Given the description of an element on the screen output the (x, y) to click on. 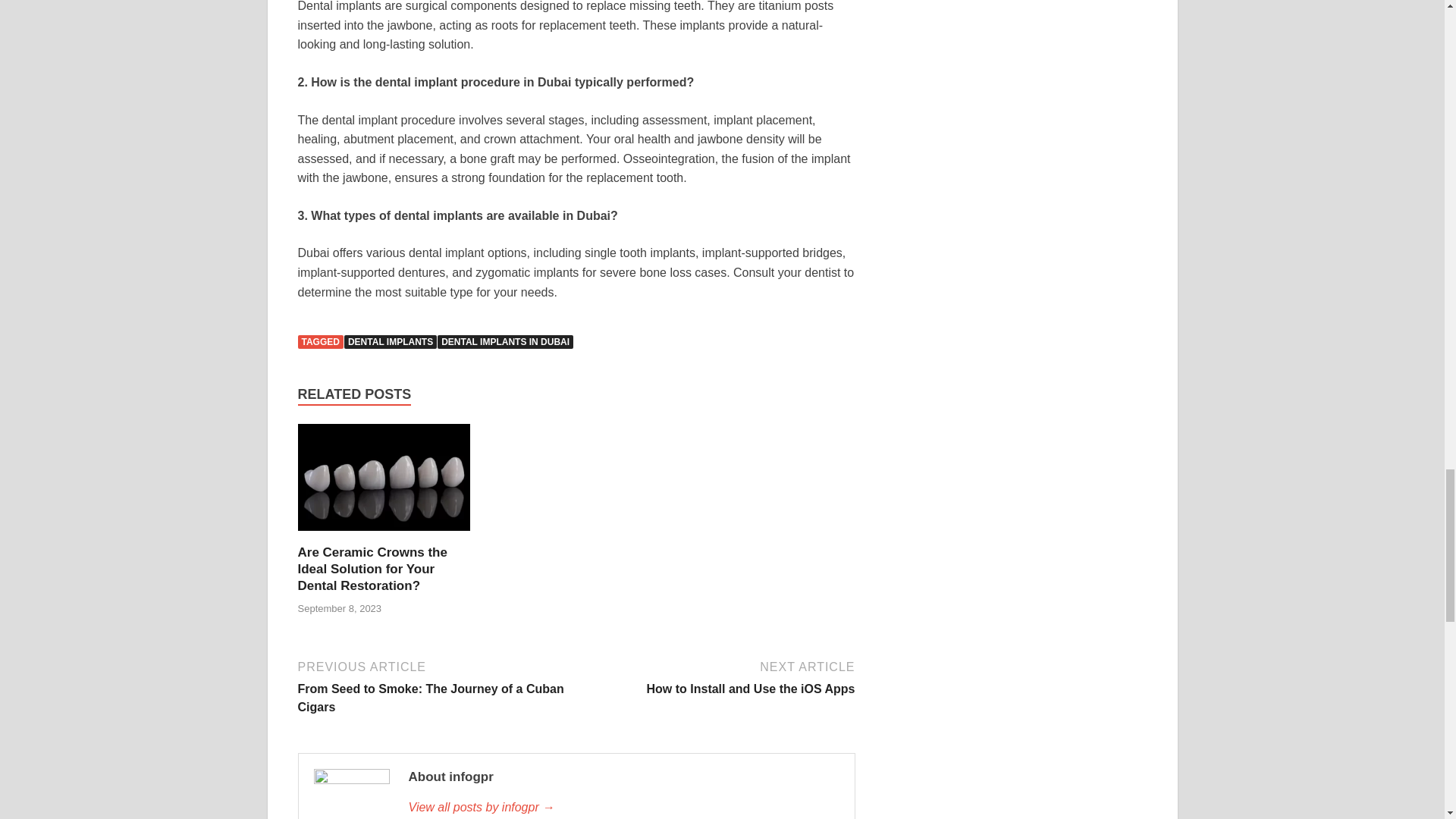
DENTAL IMPLANTS IN DUBAI (505, 341)
infogpr (622, 807)
DENTAL IMPLANTS (717, 676)
